Given the description of an element on the screen output the (x, y) to click on. 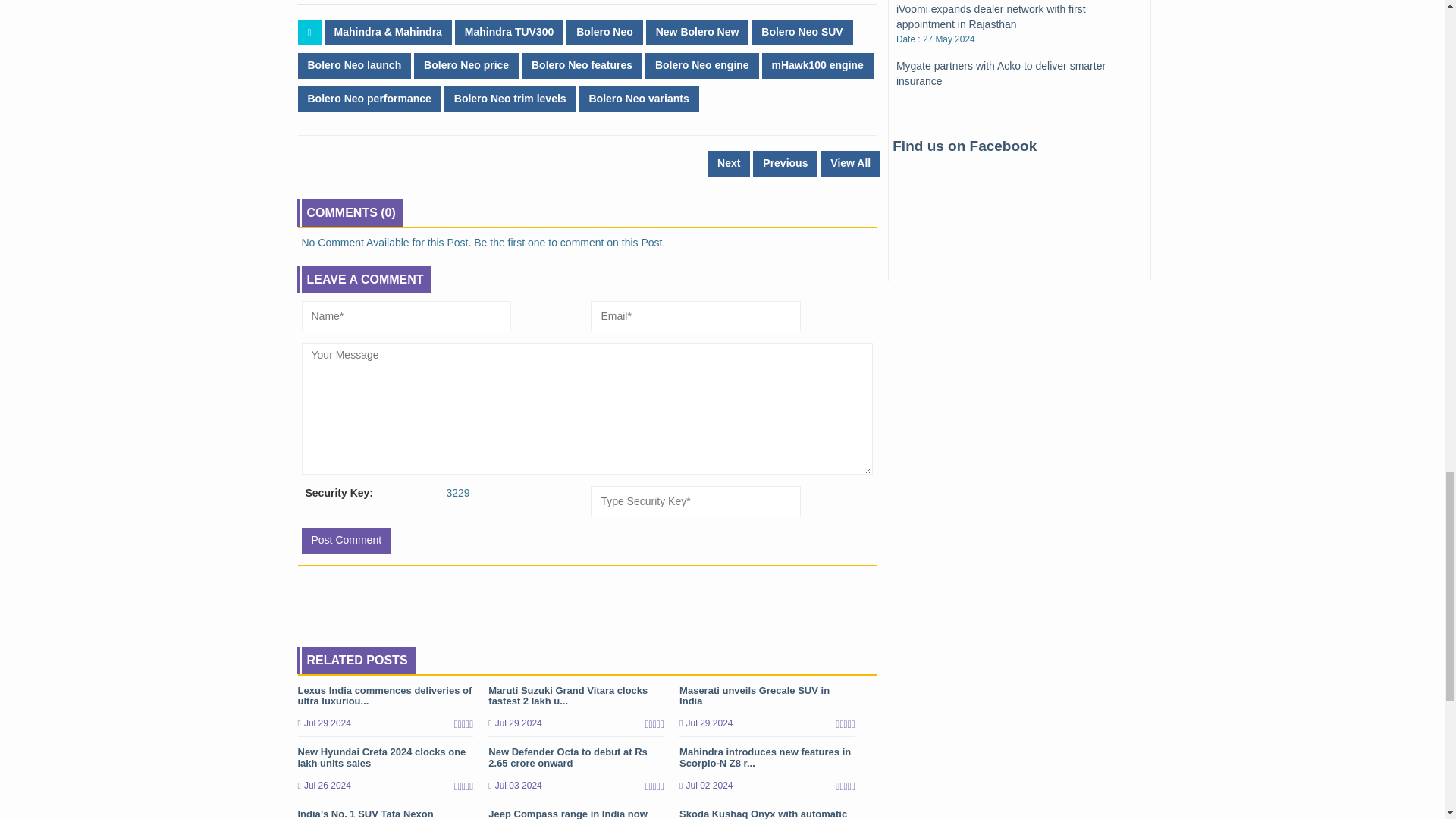
Mahindra TUV300 (508, 32)
Bolero Neo (604, 32)
Post Comment (346, 540)
New Bolero New (697, 32)
